Given the description of an element on the screen output the (x, y) to click on. 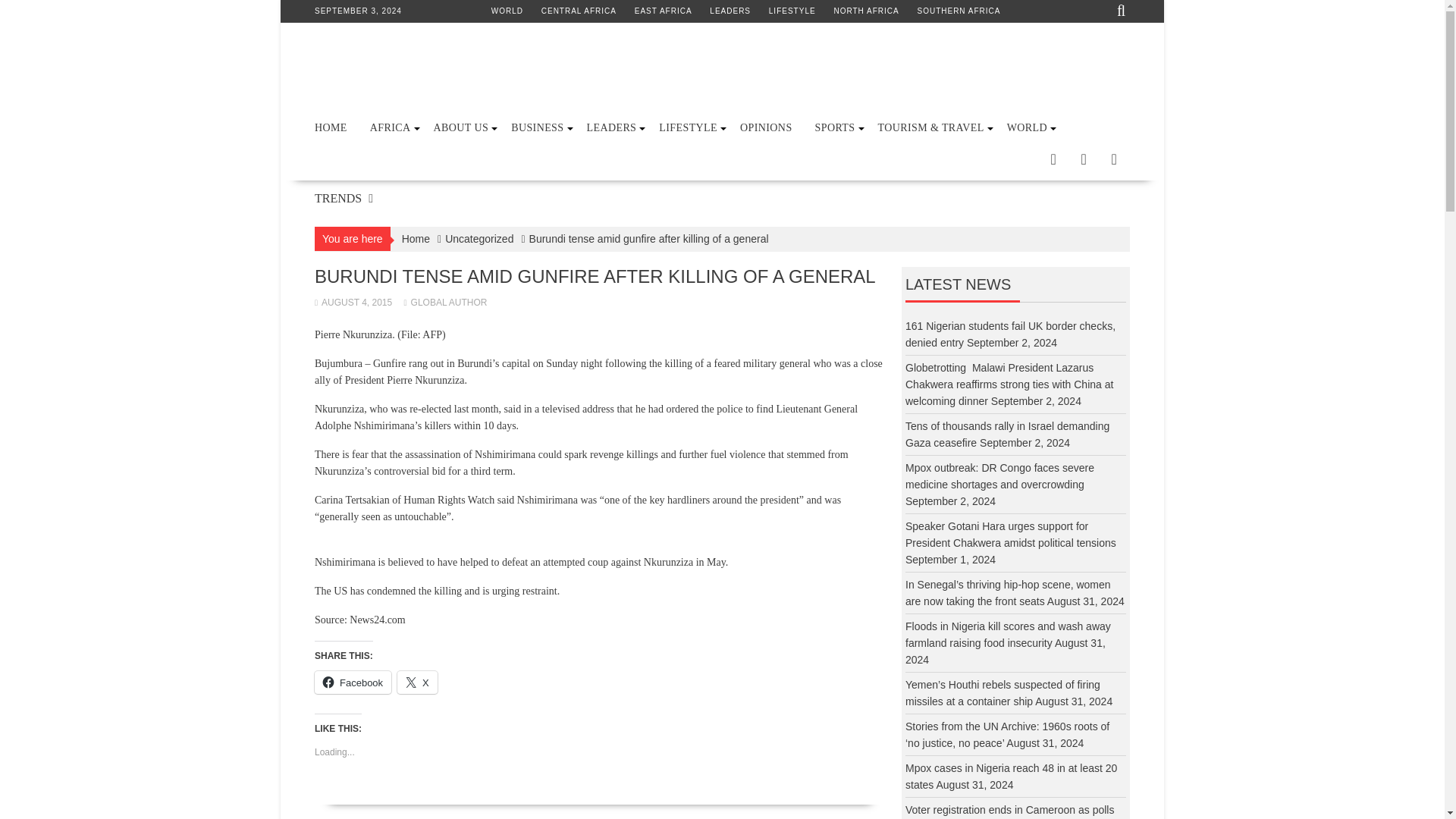
Click to share on Facebook (352, 681)
SOUTHERN AFRICA (958, 10)
EAST AFRICA (663, 10)
LEADERS (730, 10)
CENTRAL AFRICA (578, 10)
WORLD (507, 10)
AFRICA (390, 127)
LIFESTYLE (791, 10)
Click to share on X (417, 681)
NORTH AFRICA (865, 10)
